Given the description of an element on the screen output the (x, y) to click on. 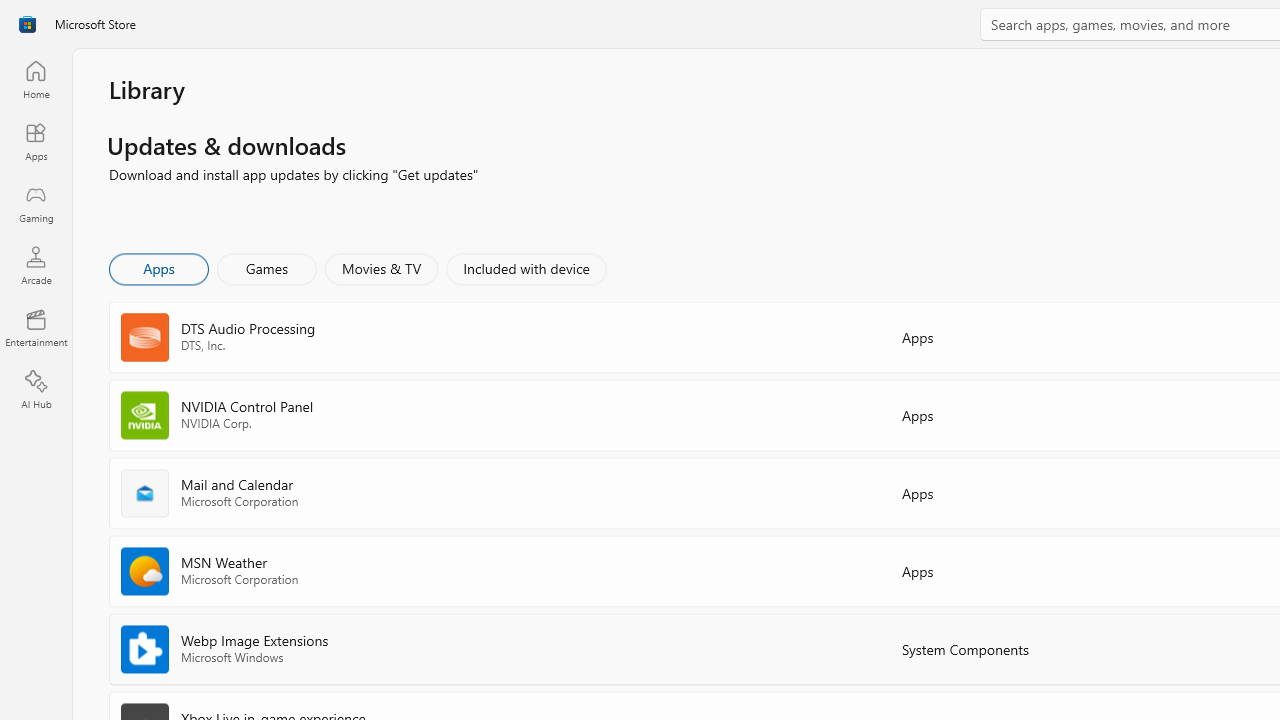
Games (267, 268)
Included with device (525, 268)
Movies & TV (381, 268)
